Given the description of an element on the screen output the (x, y) to click on. 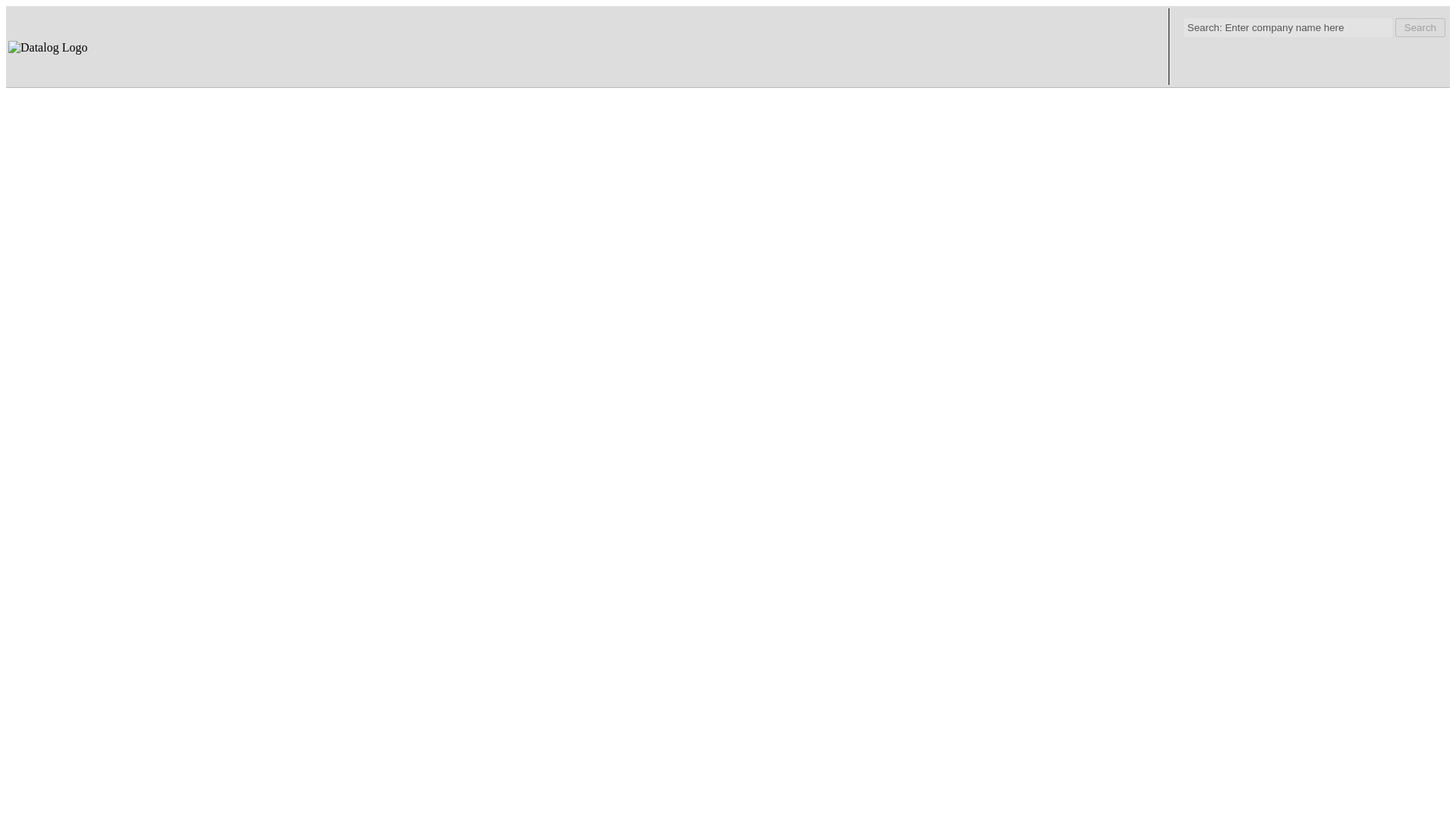
Search (1419, 27)
Search: Enter company name here (1287, 27)
Search (1419, 27)
